Given the description of an element on the screen output the (x, y) to click on. 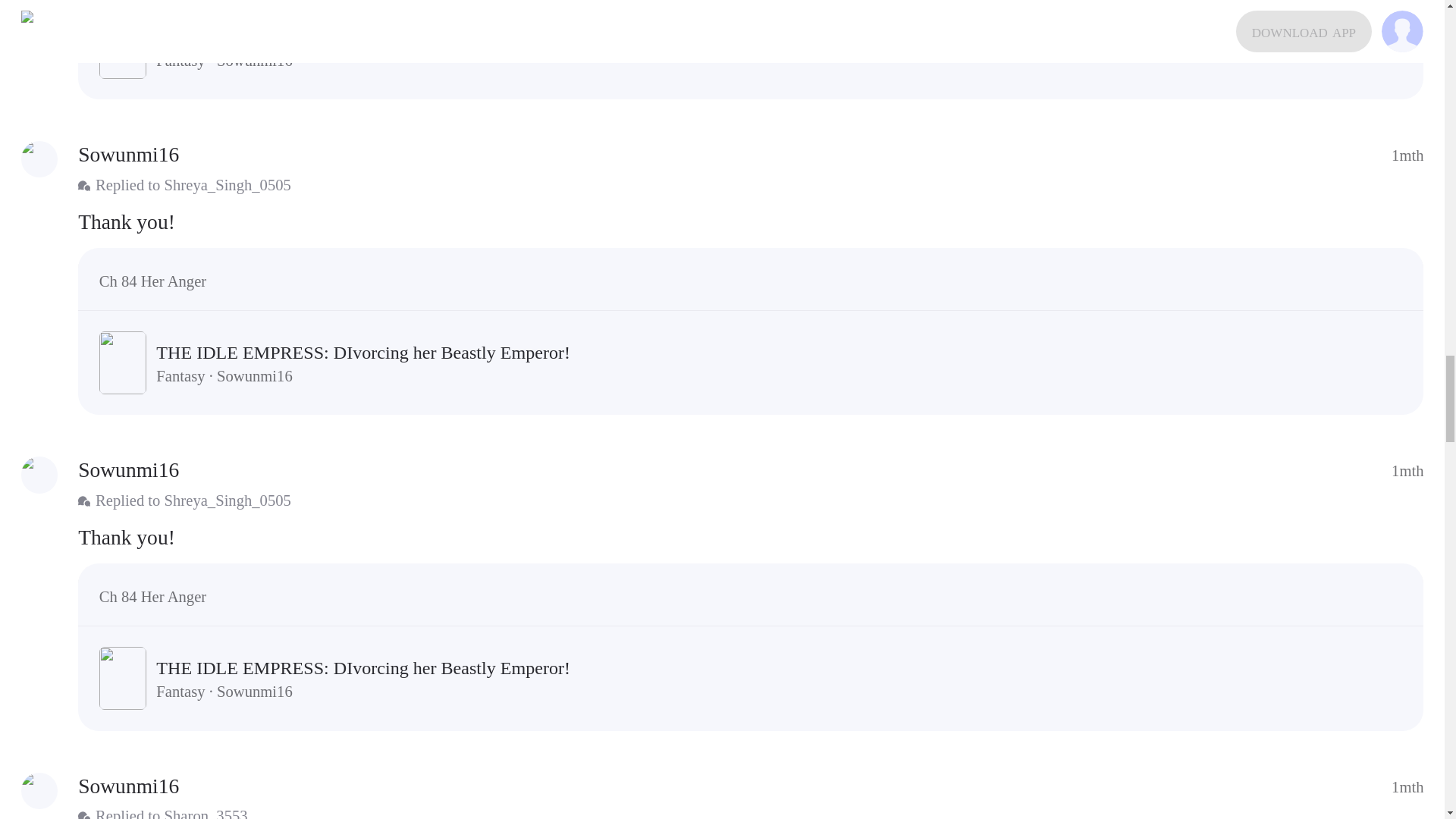
reply (750, 221)
